Given the description of an element on the screen output the (x, y) to click on. 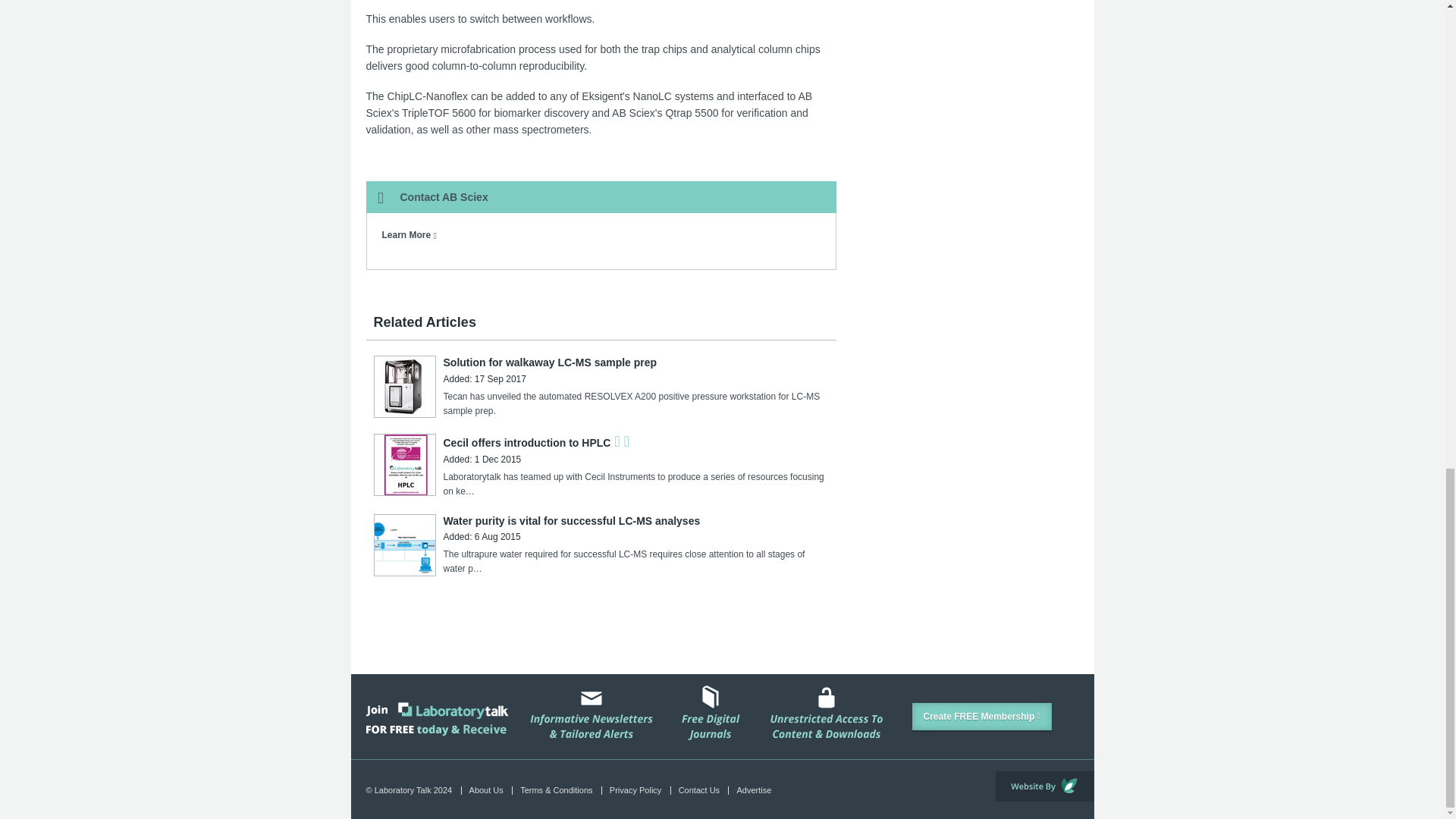
Cecil offers introduction to HPLC (526, 442)
Solution for walkaway LC-MS sample prep (549, 362)
Learn More (408, 235)
Water purity is vital for successful LC-MS analyses (571, 521)
